Given the description of an element on the screen output the (x, y) to click on. 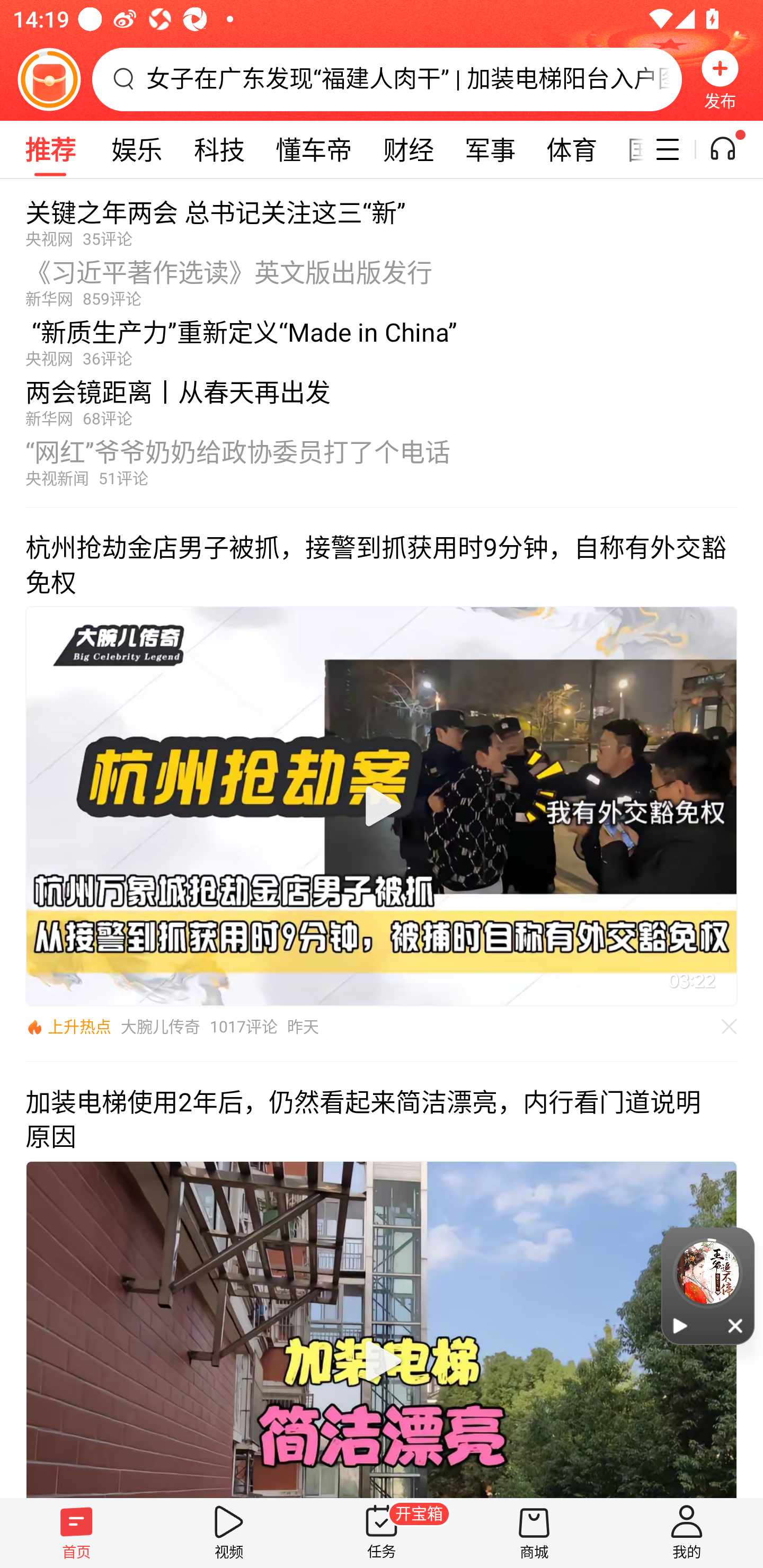
阅读赚金币 (48, 79)
发布 发布，按钮 (720, 78)
推荐 (49, 149)
娱乐 (136, 149)
科技 (218, 149)
懂车帝 (313, 149)
财经 (408, 149)
军事 (490, 149)
体育 (571, 149)
听一听开关 (732, 149)
两会镜距离丨从春天再出发新华网68评论 文章 两会镜距离丨从春天再出发 新华网68评论 (381, 398)
播放视频 视频播放器，双击屏幕打开播放控制 (381, 805)
播放视频 (381, 806)
不感兴趣 (729, 1026)
播放视频 视频播放器，双击屏幕打开播放控制 (381, 1328)
播放 关闭 (708, 1286)
播放 (680, 1325)
关闭 (736, 1325)
播放视频 (381, 1360)
首页 (76, 1532)
视频 (228, 1532)
任务 开宝箱 (381, 1532)
商城 (533, 1532)
我的 (686, 1532)
